Given the description of an element on the screen output the (x, y) to click on. 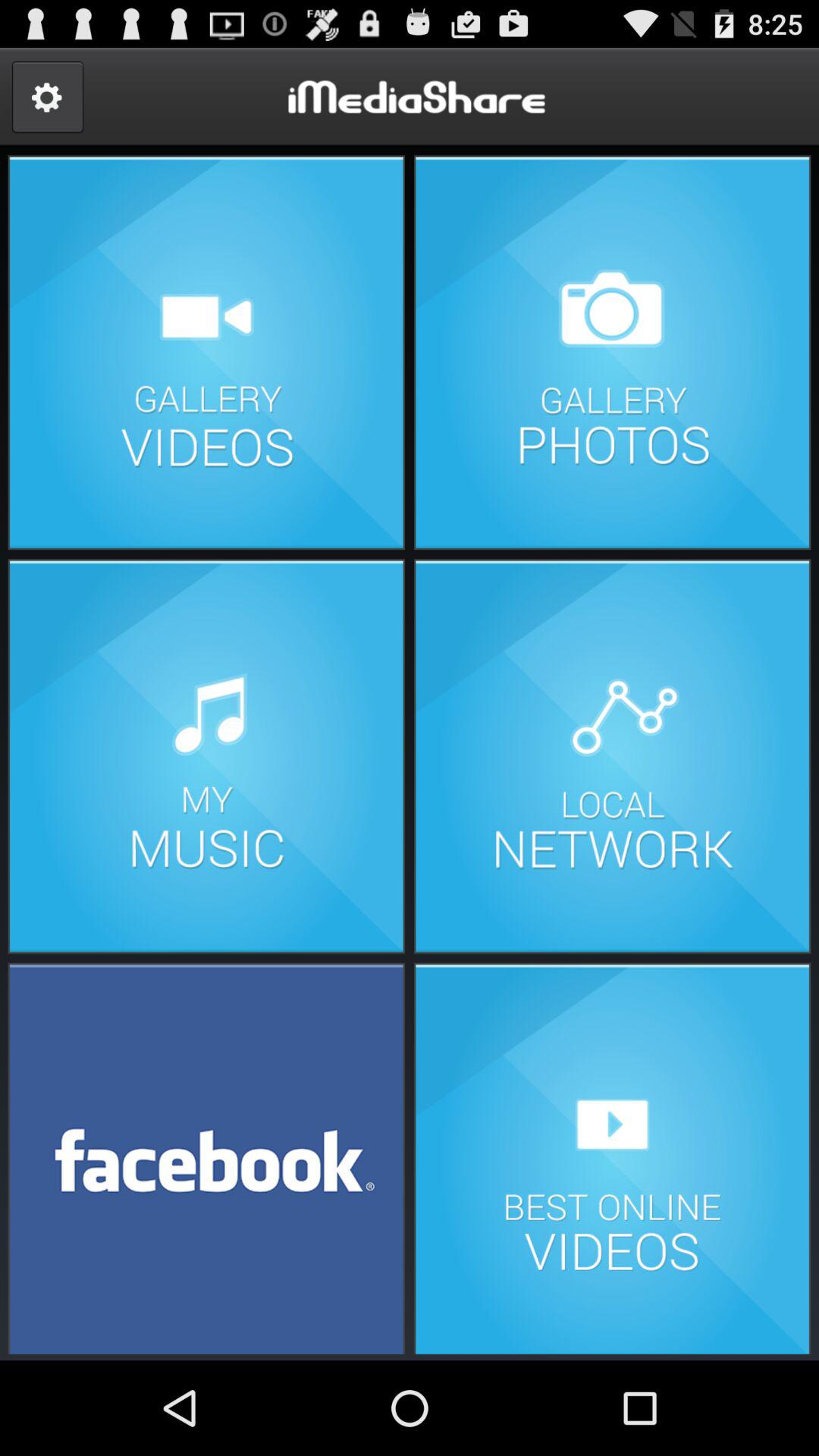
photos (612, 352)
